Given the description of an element on the screen output the (x, y) to click on. 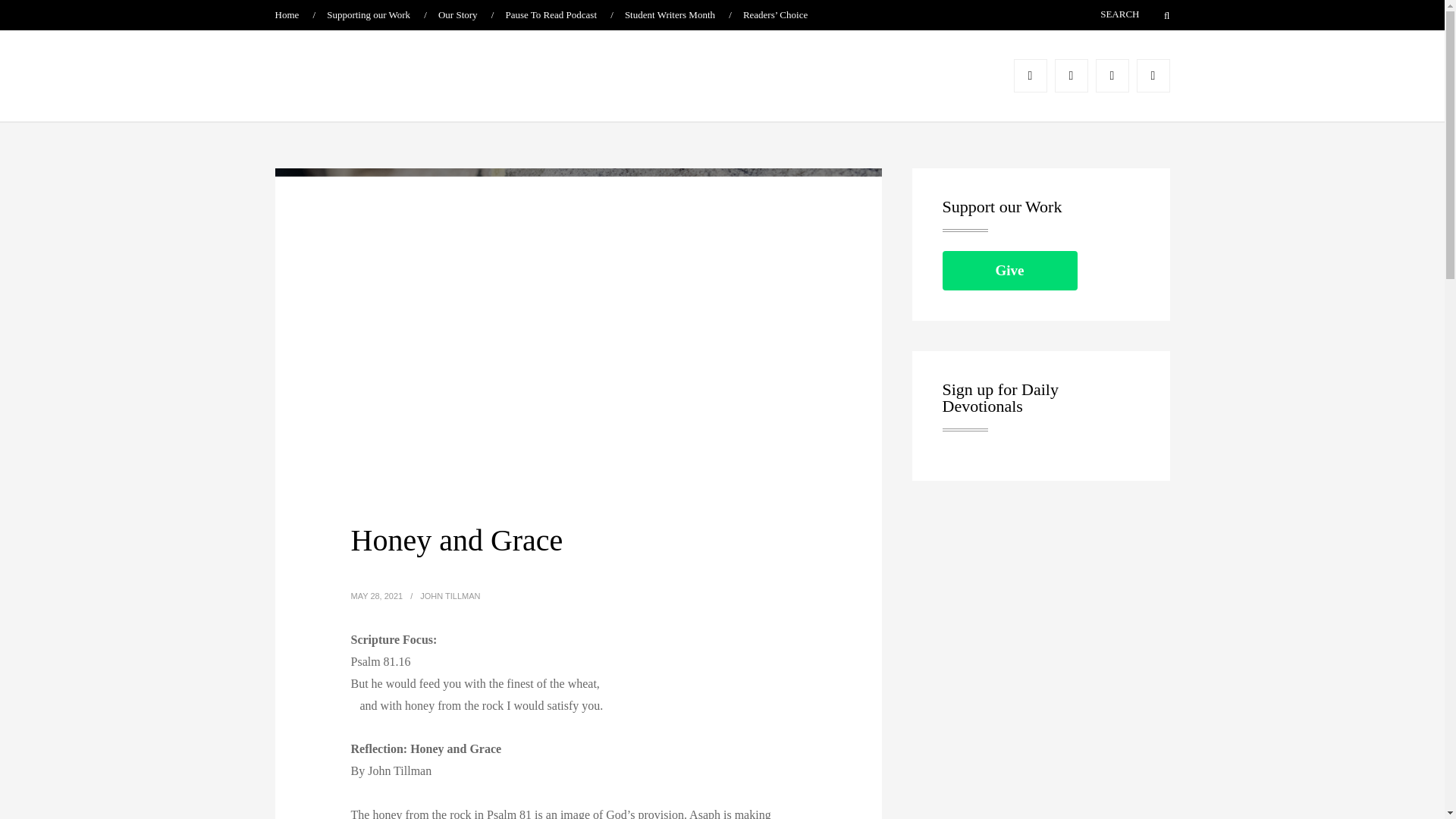
Search (1158, 15)
Our Story (457, 14)
Student Writers Month (669, 14)
Supporting our Work (368, 14)
Pause To Read Podcast (550, 14)
SEARCH (1096, 14)
Home (286, 14)
